Given the description of an element on the screen output the (x, y) to click on. 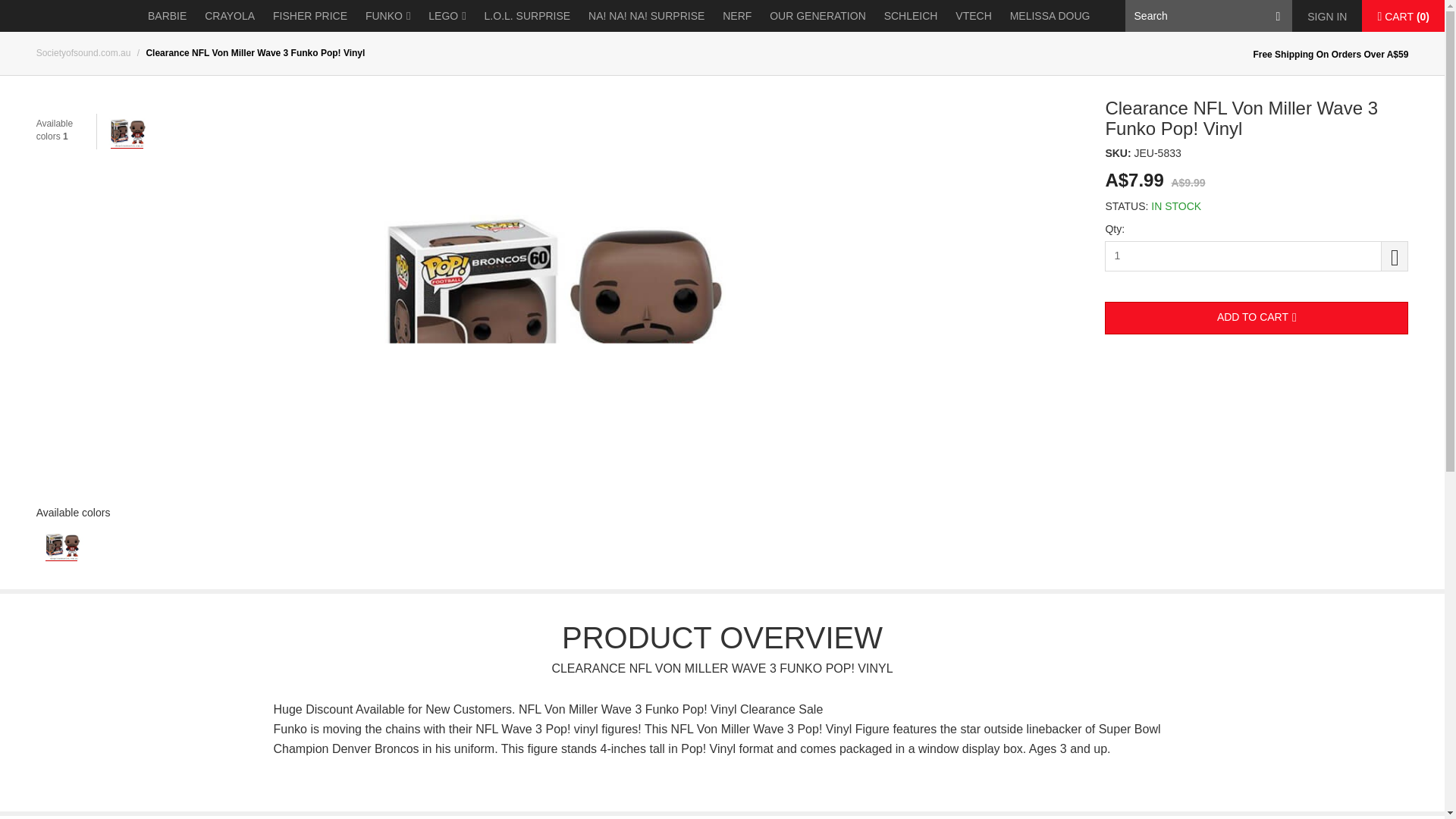
LEGO (446, 15)
SCHLEICH (910, 15)
Clearance NFL Von Miller Wave 3 Funko Pop! Vinyl (127, 130)
VTECH (972, 15)
SIGN IN (1326, 16)
FUNKO (387, 15)
L.O.L. SURPRISE (527, 15)
OUR GENERATION (817, 15)
MELISSA DOUG (1050, 15)
NA! NA! NA! SURPRISE (645, 15)
NERF (736, 15)
BARBIE (166, 15)
Clearance NFL Von Miller Wave 3 Funko Pop! Vinyl (62, 545)
CRAYOLA (229, 15)
FISHER PRICE (309, 15)
